Given the description of an element on the screen output the (x, y) to click on. 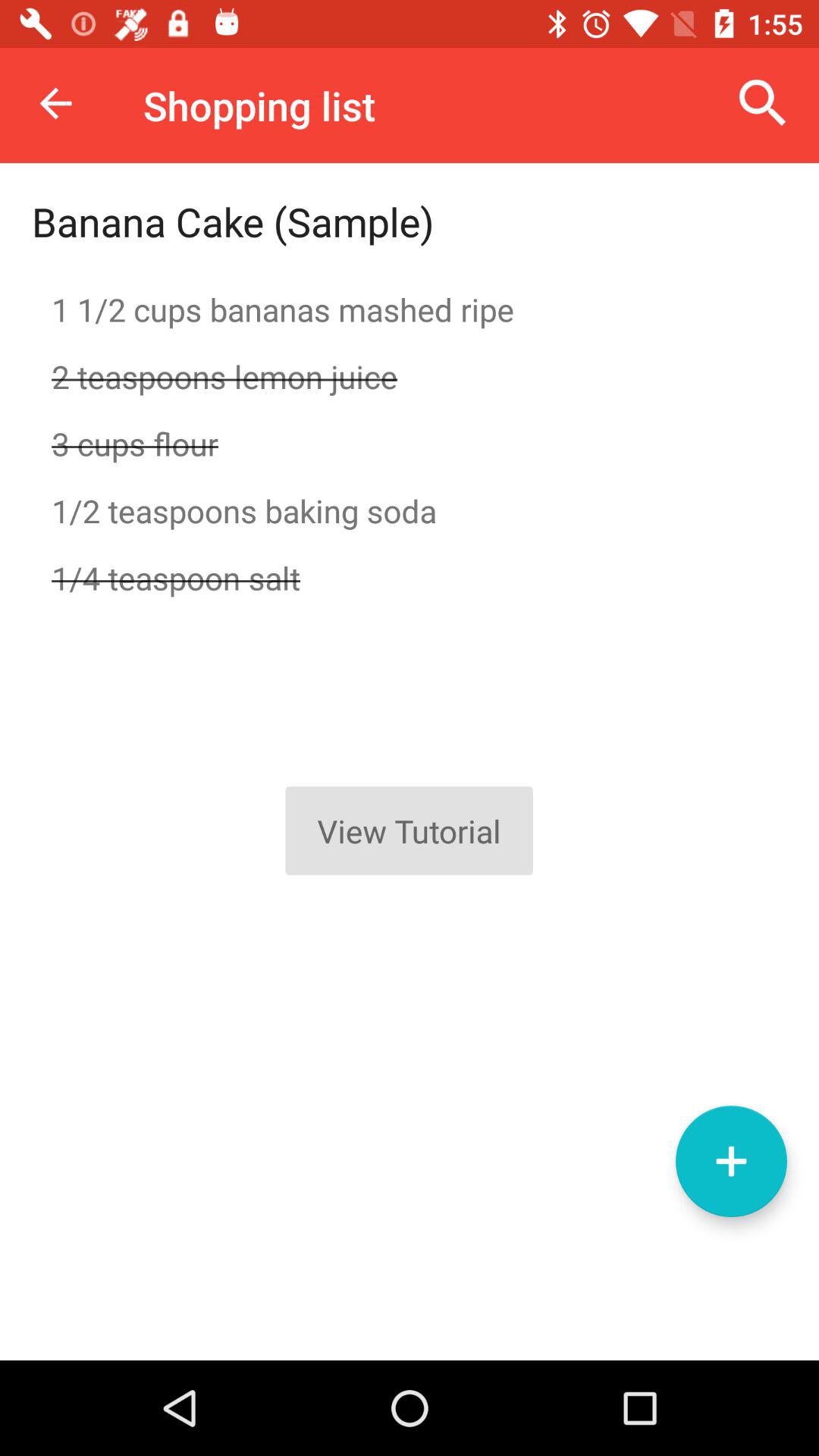
scroll until the 3 cups flour (409, 443)
